Given the description of an element on the screen output the (x, y) to click on. 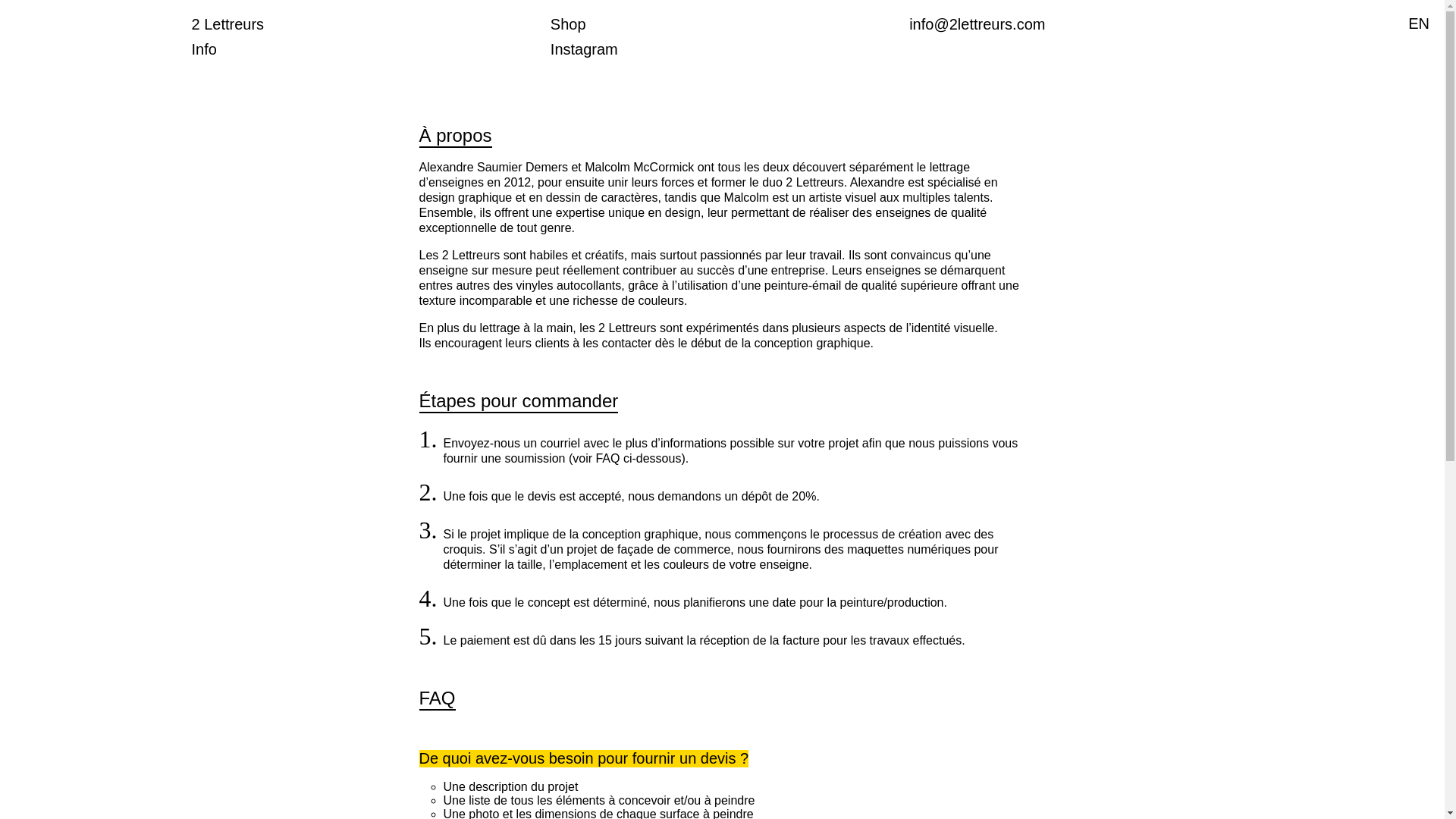
EN Element type: text (1418, 23)
2 Lettreurs Element type: text (227, 23)
info@2lettreurs.com Element type: text (976, 23)
Info Element type: text (203, 48)
Shop Element type: text (568, 23)
Malcolm McCormick Element type: text (638, 166)
Instagram Element type: text (584, 48)
